Given the description of an element on the screen output the (x, y) to click on. 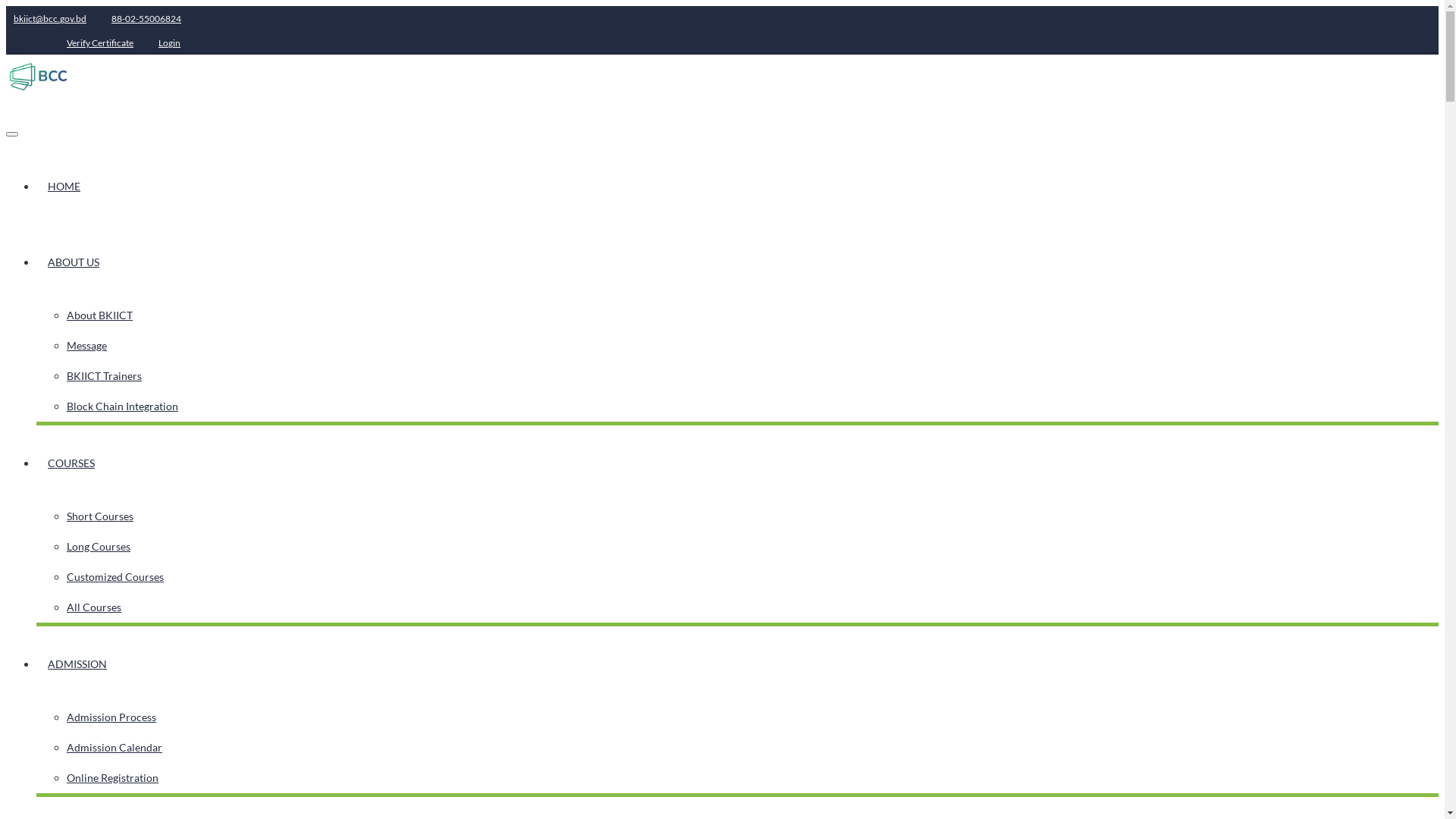
ADMISSION Element type: text (78, 663)
ABOUT US Element type: text (75, 261)
Online Registration Element type: text (112, 777)
Login Element type: text (165, 42)
Short Courses Element type: text (99, 515)
BKIICT Trainers Element type: text (103, 375)
bkiict@bcc.gov.bd Element type: text (46, 18)
Verify Certificate Element type: text (96, 42)
Customized Courses Element type: text (114, 576)
About BKIICT Element type: text (99, 314)
Block Chain Integration Element type: text (122, 405)
Admission Calendar Element type: text (114, 746)
HOME Element type: text (63, 185)
88-02-55006824 Element type: text (142, 18)
Admission Process Element type: text (111, 716)
All Courses Element type: text (93, 606)
Long Courses Element type: text (98, 545)
Message Element type: text (86, 344)
COURSES Element type: text (72, 462)
